Given the description of an element on the screen output the (x, y) to click on. 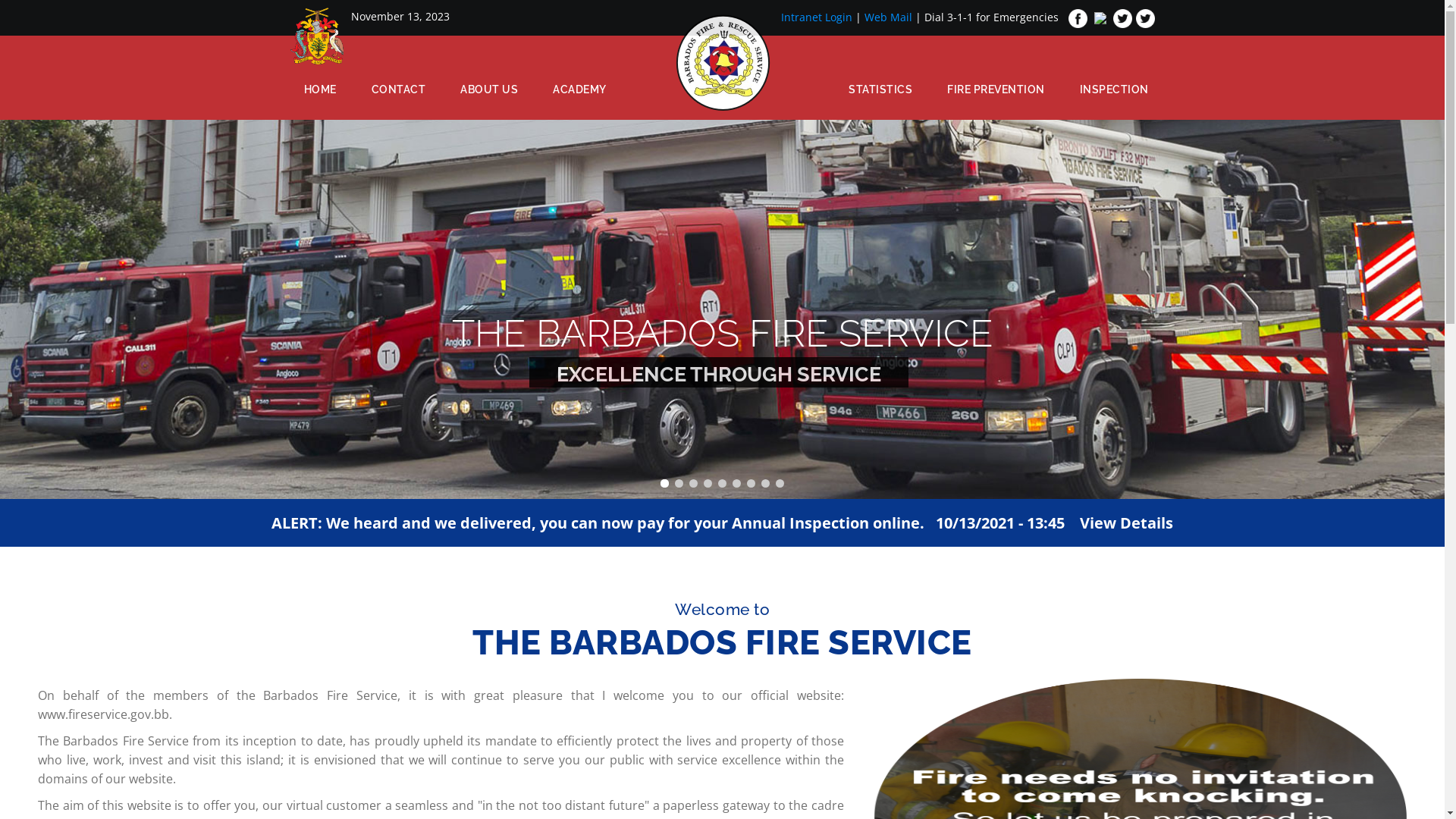
ACADEMY Element type: text (579, 89)
INSPECTION Element type: text (1113, 89)
STATISTICS Element type: text (880, 89)
HOME Element type: text (320, 89)
CONTACT Element type: text (397, 89)
View Details Element type: text (1126, 522)
Barbados Fire Service Element type: hover (722, 64)
FIRE PREVENTION Element type: text (995, 89)
Skip to main content Element type: text (0, 0)
ABOUT US Element type: text (488, 89)
Web Mail Element type: text (888, 16)
Intranet Login Element type: text (816, 16)
